Given the description of an element on the screen output the (x, y) to click on. 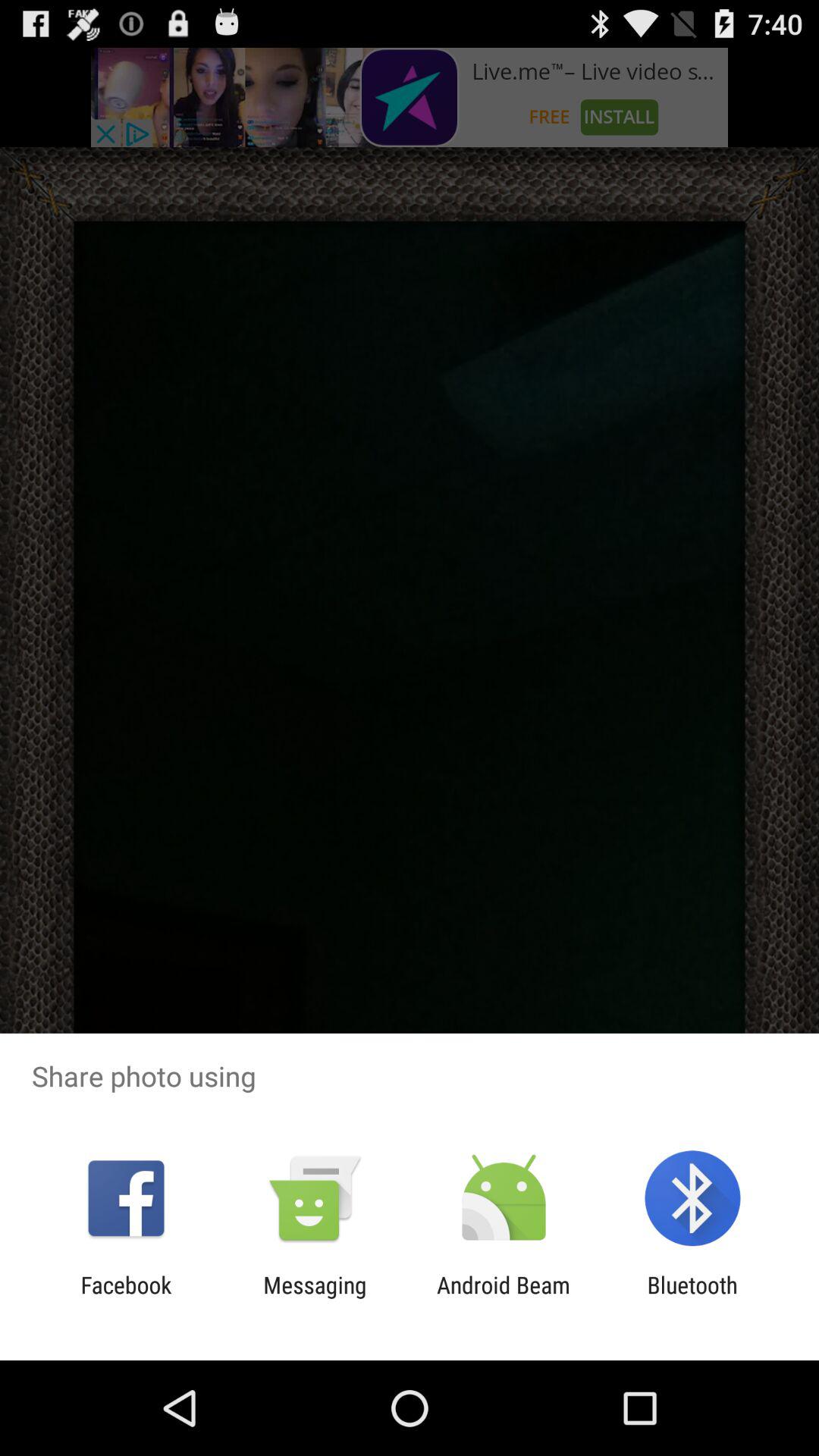
turn on item to the left of bluetooth item (503, 1298)
